Given the description of an element on the screen output the (x, y) to click on. 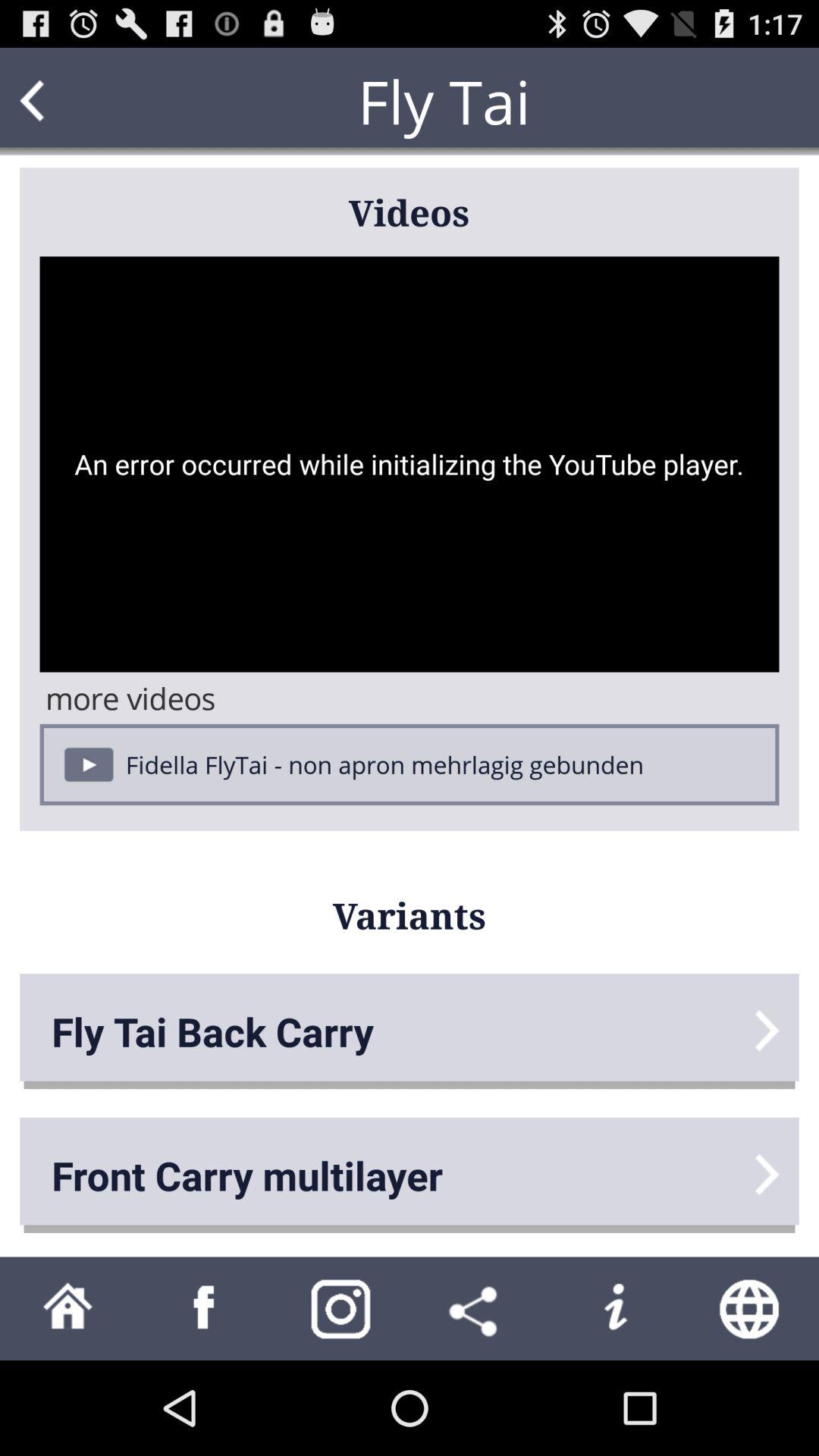
facebook navigation button (204, 1308)
